Given the description of an element on the screen output the (x, y) to click on. 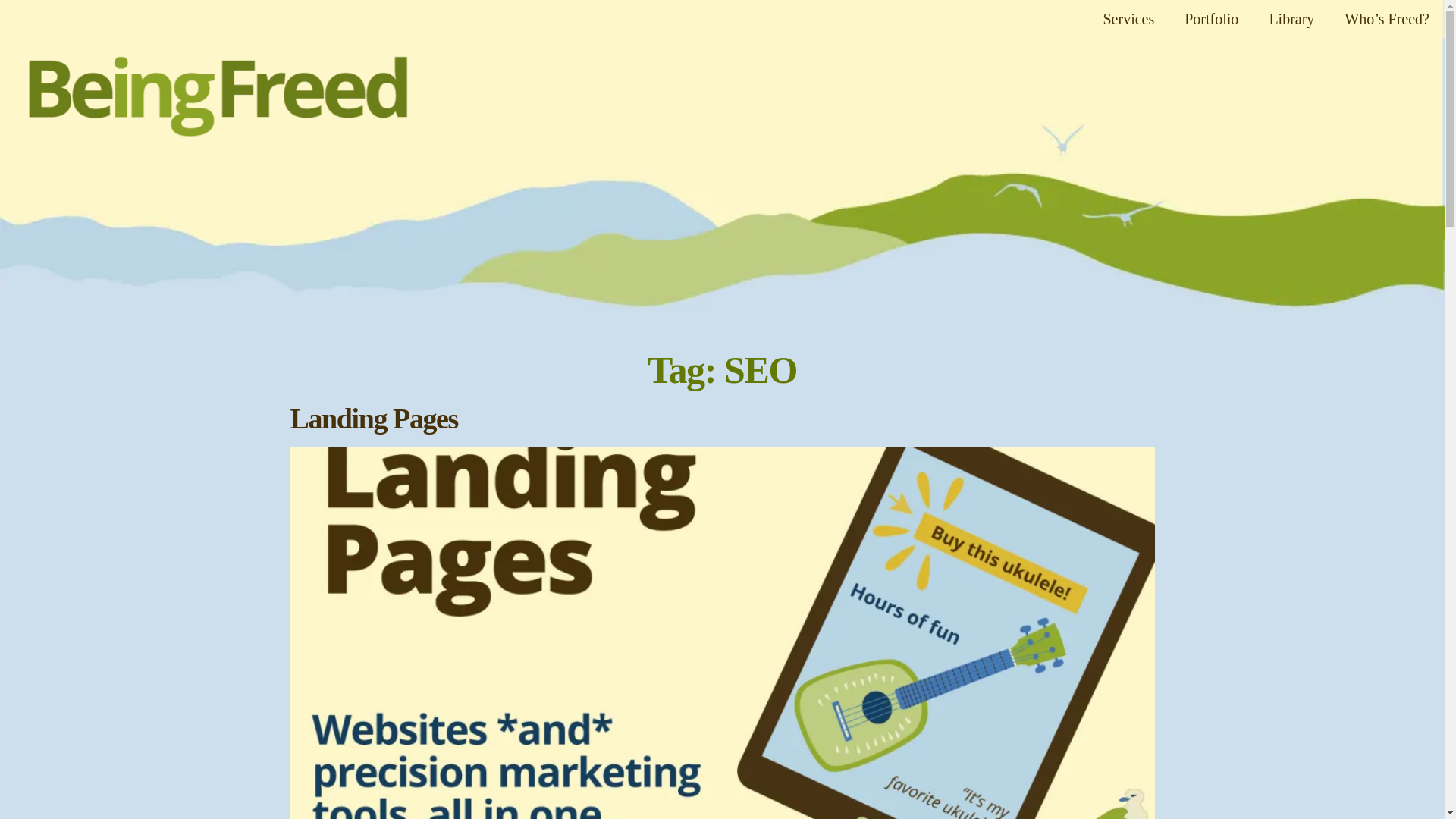
Landing Pages (373, 418)
